Given the description of an element on the screen output the (x, y) to click on. 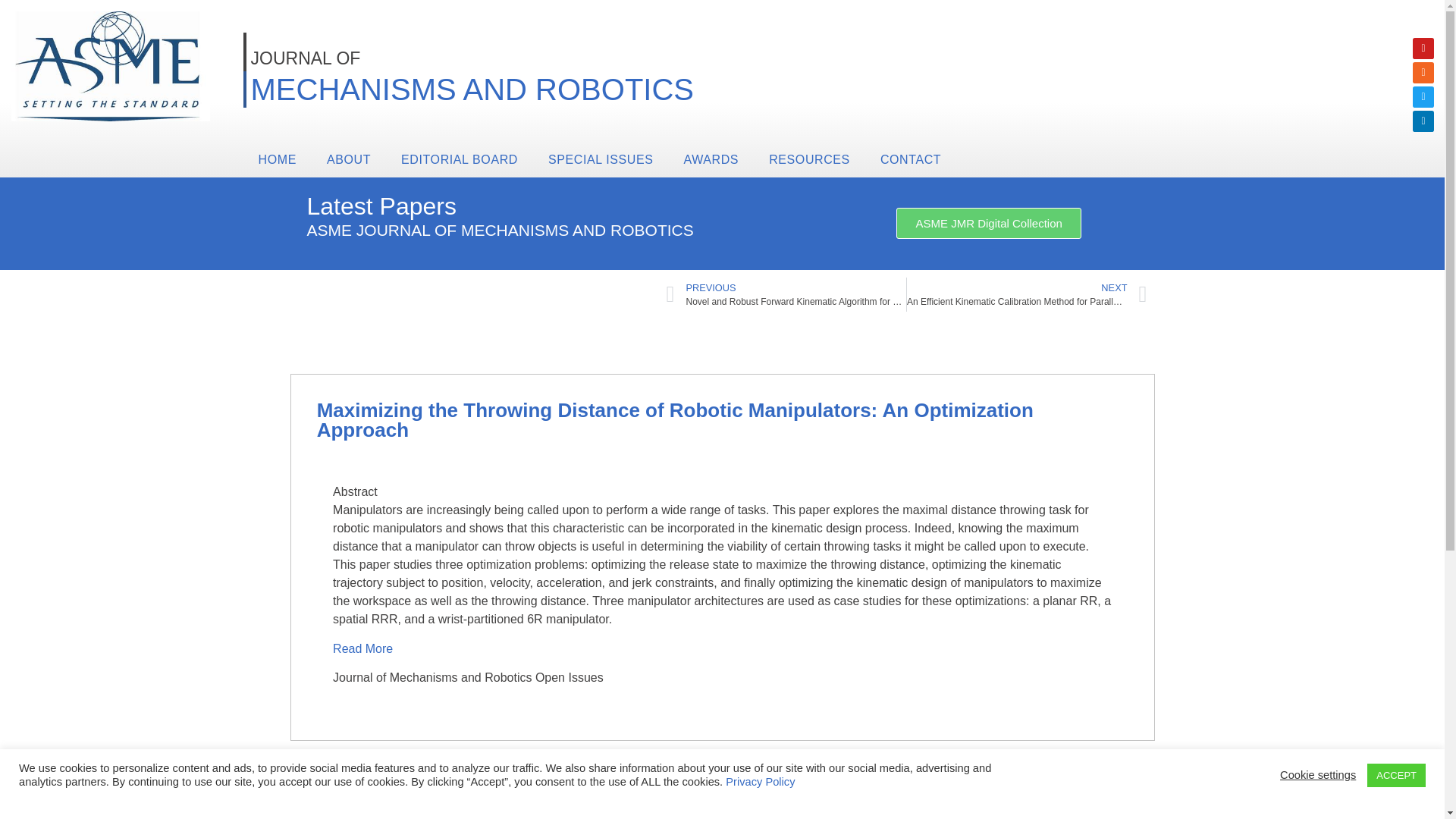
Privacy Policy (759, 781)
EDITORIAL BOARD (458, 159)
ASME JMR Digital Collection (988, 223)
AWARDS (711, 159)
Cookie settings (1317, 775)
HOME (277, 159)
RESOURCES (809, 159)
CONTACT (910, 159)
SPECIAL ISSUES (600, 159)
Read More (363, 648)
ABOUT (348, 159)
ACCEPT (1396, 775)
